Given the description of an element on the screen output the (x, y) to click on. 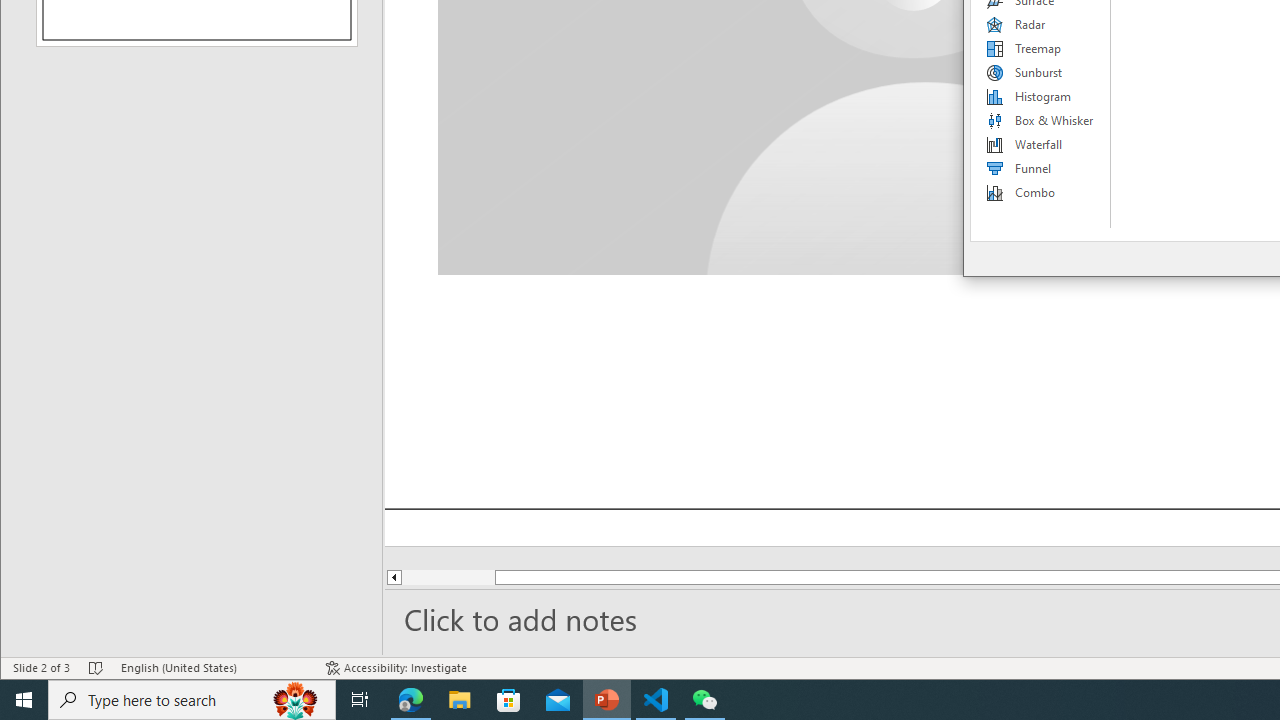
Waterfall (1041, 144)
Microsoft Edge - 1 running window (411, 699)
Histogram (1041, 96)
Visual Studio Code - 1 running window (656, 699)
Task View (359, 699)
Box & Whisker (1041, 120)
Line up (393, 577)
